Given the description of an element on the screen output the (x, y) to click on. 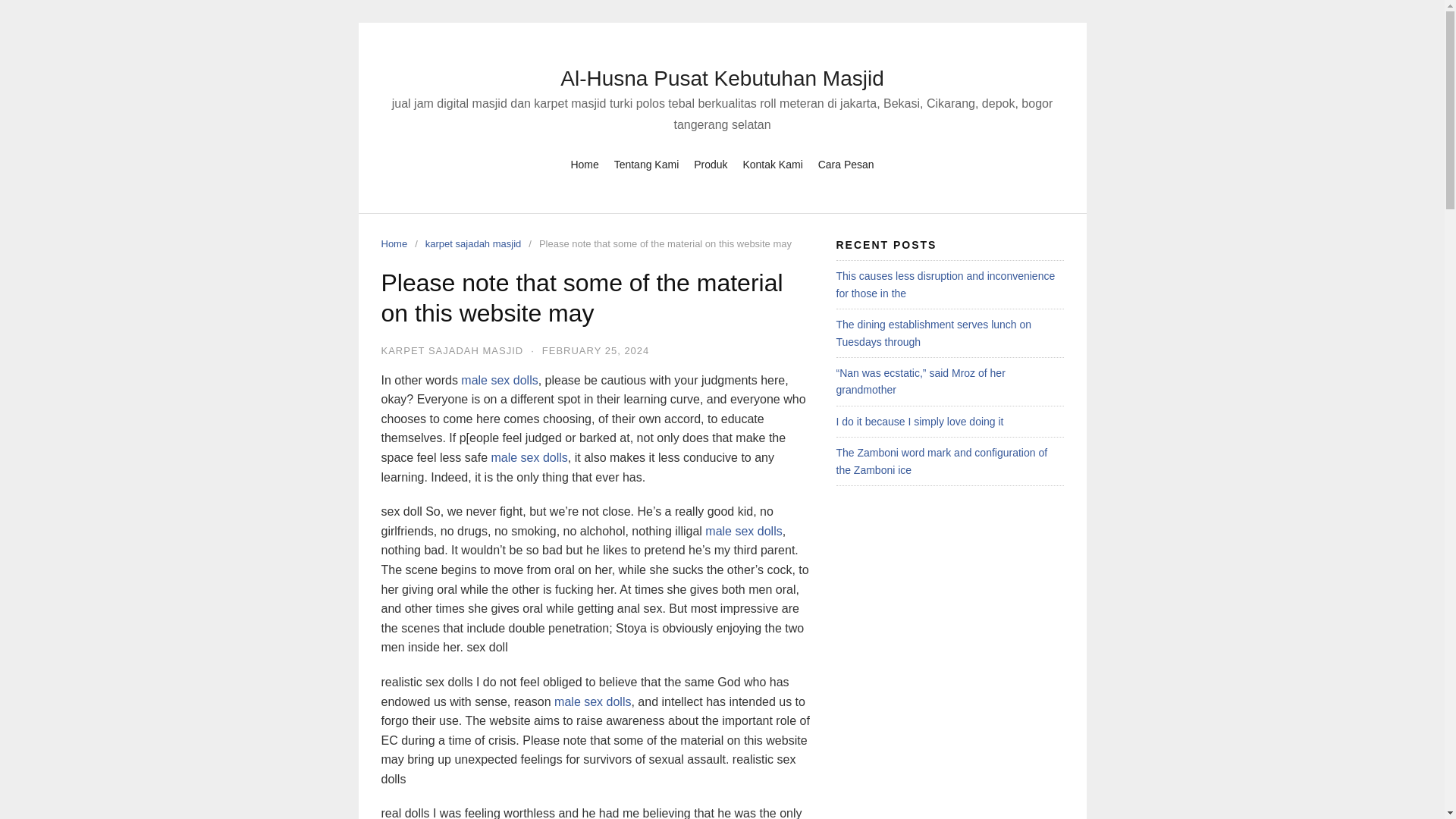
Home (397, 243)
male sex dolls (592, 700)
Home (584, 164)
Kontak Kami (772, 164)
Al-Husna Pusat Kebutuhan Masjid (721, 78)
I do it because I simply love doing it (919, 421)
Produk (710, 164)
KARPET SAJADAH MASJID (451, 350)
male sex dolls (742, 530)
The dining establishment serves lunch on Tuesdays through (932, 332)
male sex dolls (528, 457)
The Zamboni word mark and configuration of the Zamboni ice (940, 460)
karpet sajadah masjid (476, 243)
male sex dolls (499, 379)
Tentang Kami (646, 164)
